Given the description of an element on the screen output the (x, y) to click on. 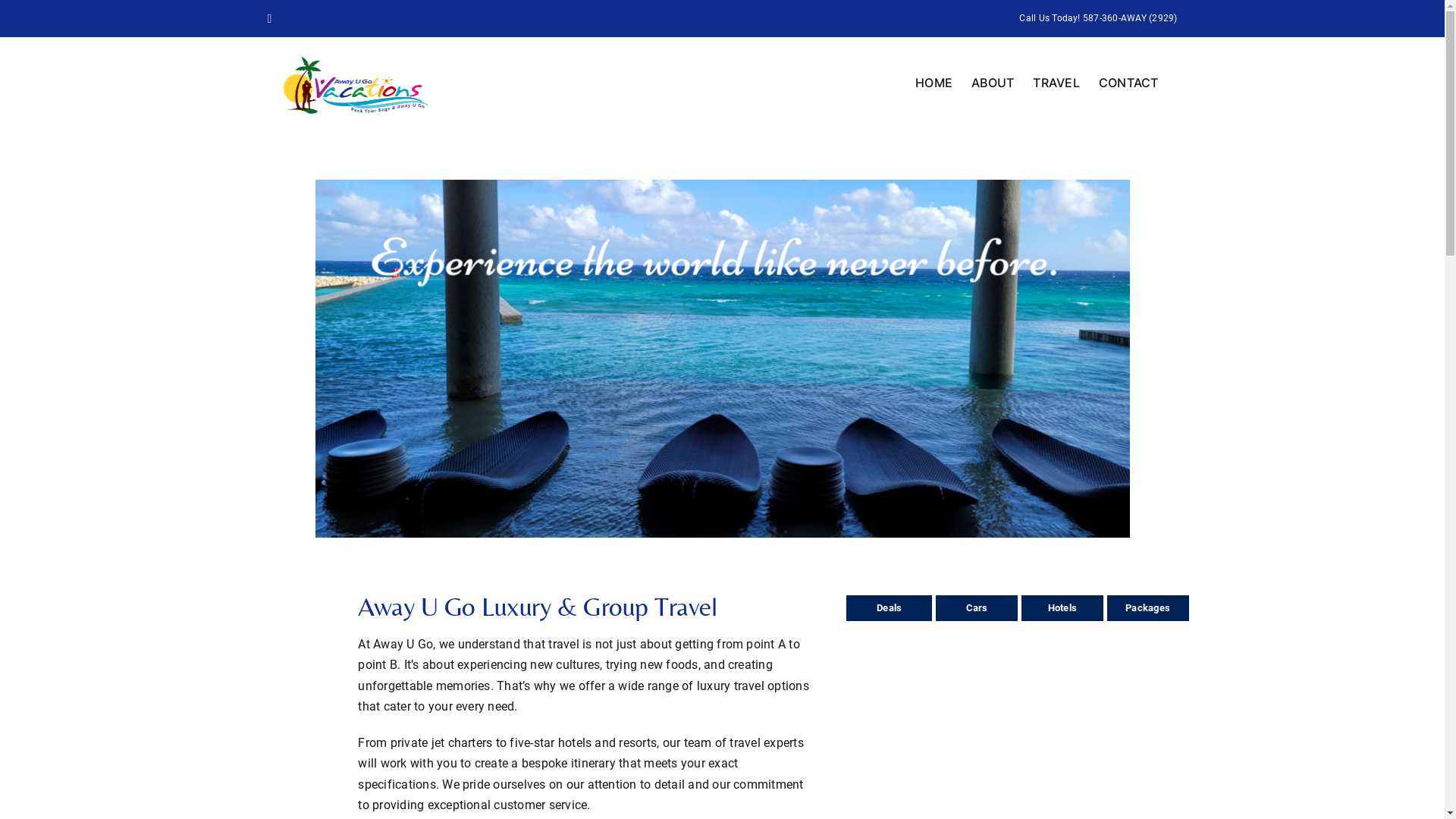
Facebook Element type: text (268, 18)
ABOUT Element type: text (992, 82)
CONTACT Element type: text (1128, 82)
HOME Element type: text (933, 82)
Packages Element type: text (1148, 607)
TRAVEL Element type: text (1055, 82)
Cars Element type: text (976, 607)
Hotels Element type: text (1062, 607)
Deals Element type: text (888, 607)
